Given the description of an element on the screen output the (x, y) to click on. 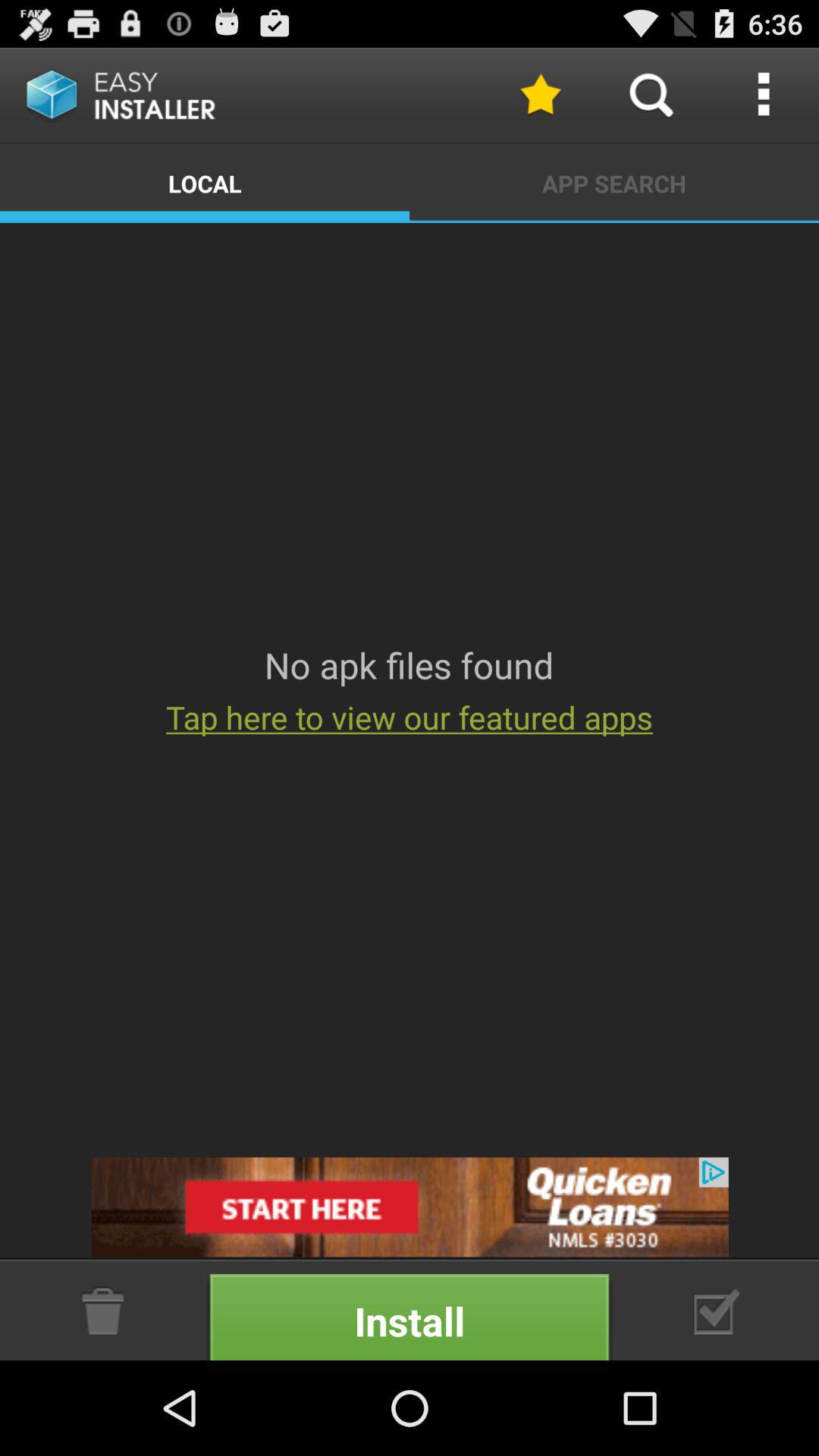
open advertisement (409, 1206)
